Given the description of an element on the screen output the (x, y) to click on. 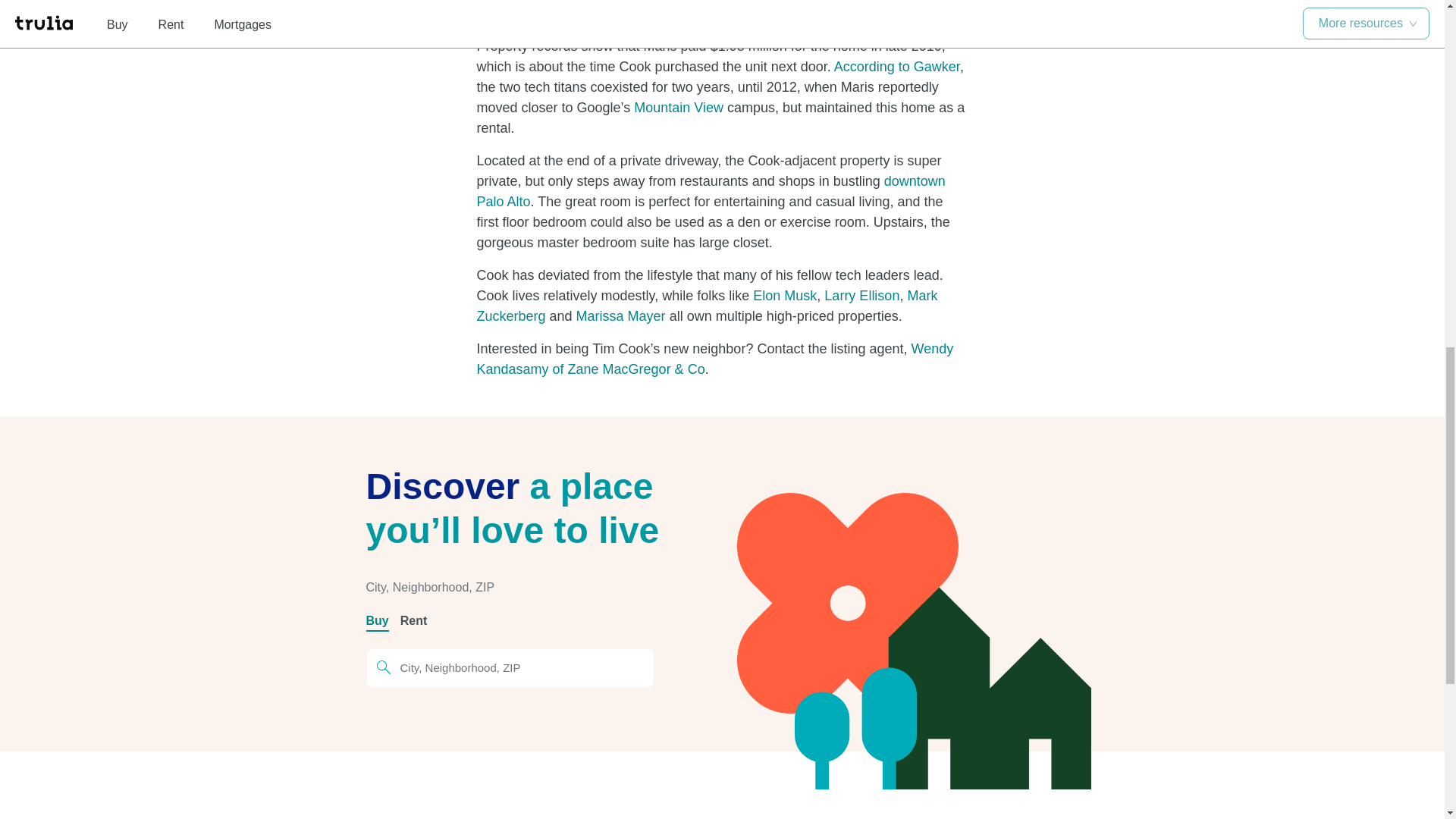
Nest (584, 13)
Uber (621, 13)
Mountain View (678, 107)
Elon Musk (784, 295)
Mark Zuckerberg (706, 305)
Larry Ellison (861, 295)
23andMe (694, 13)
According to Gawker (896, 66)
downtown Palo Alto (710, 191)
Marissa Mayer (620, 315)
